Given the description of an element on the screen output the (x, y) to click on. 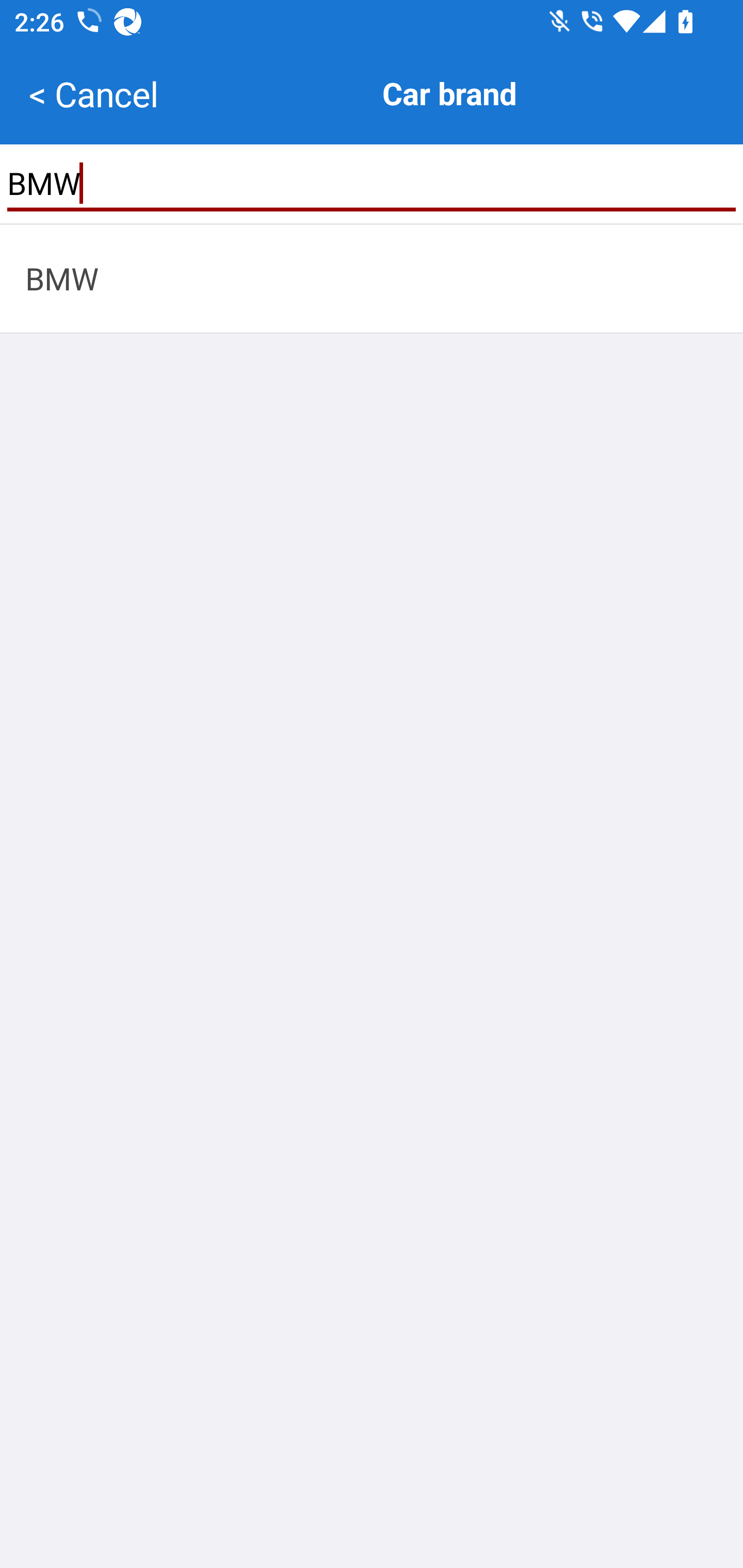
< Cancel (93, 93)
BMW (371, 183)
BMW (371, 278)
